Given the description of an element on the screen output the (x, y) to click on. 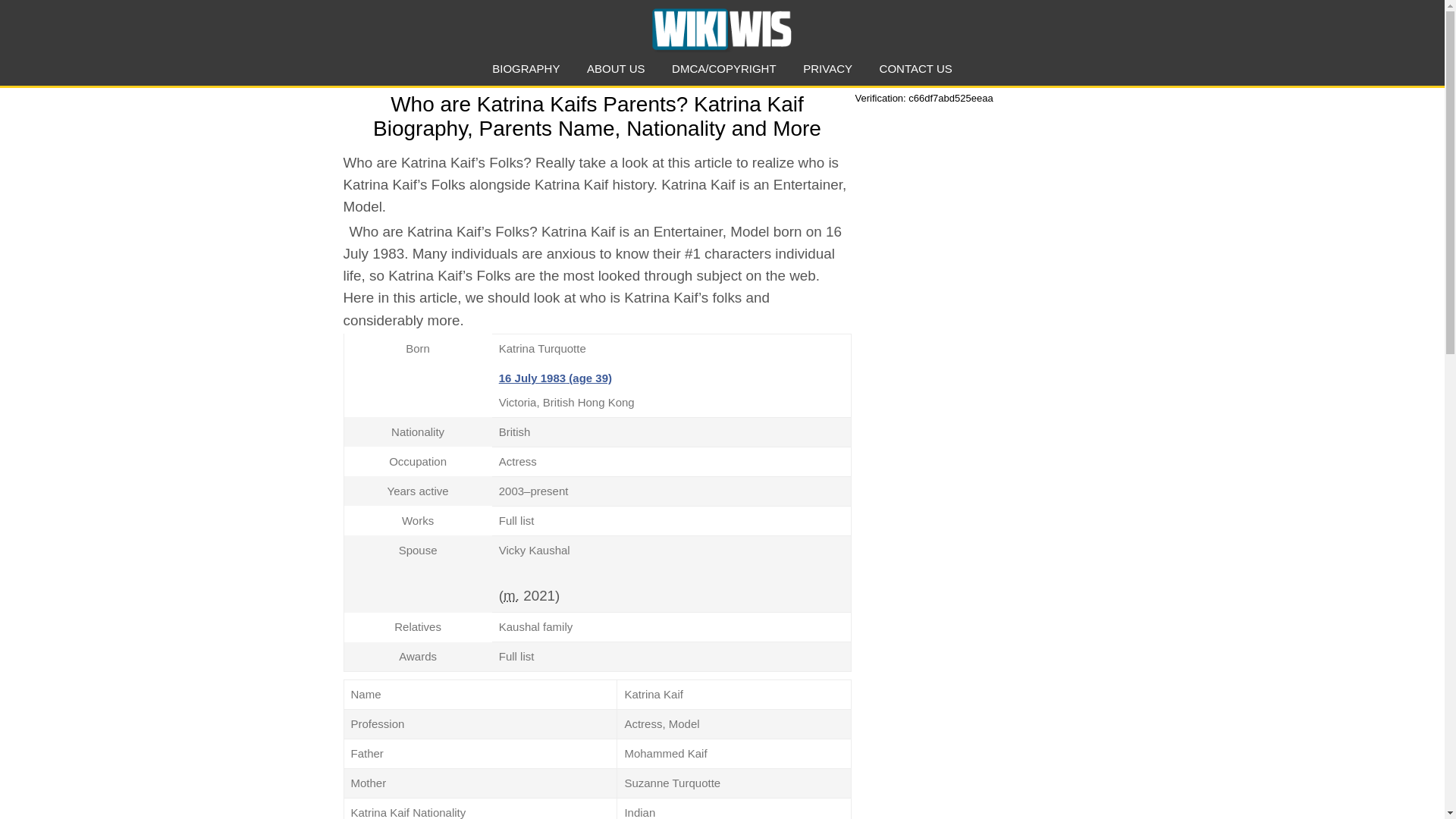
anasayfa (721, 29)
married (511, 595)
CONTACT US (915, 68)
BIOGRAPHY (525, 68)
ABOUT US (615, 68)
PRIVACY (827, 68)
